Given the description of an element on the screen output the (x, y) to click on. 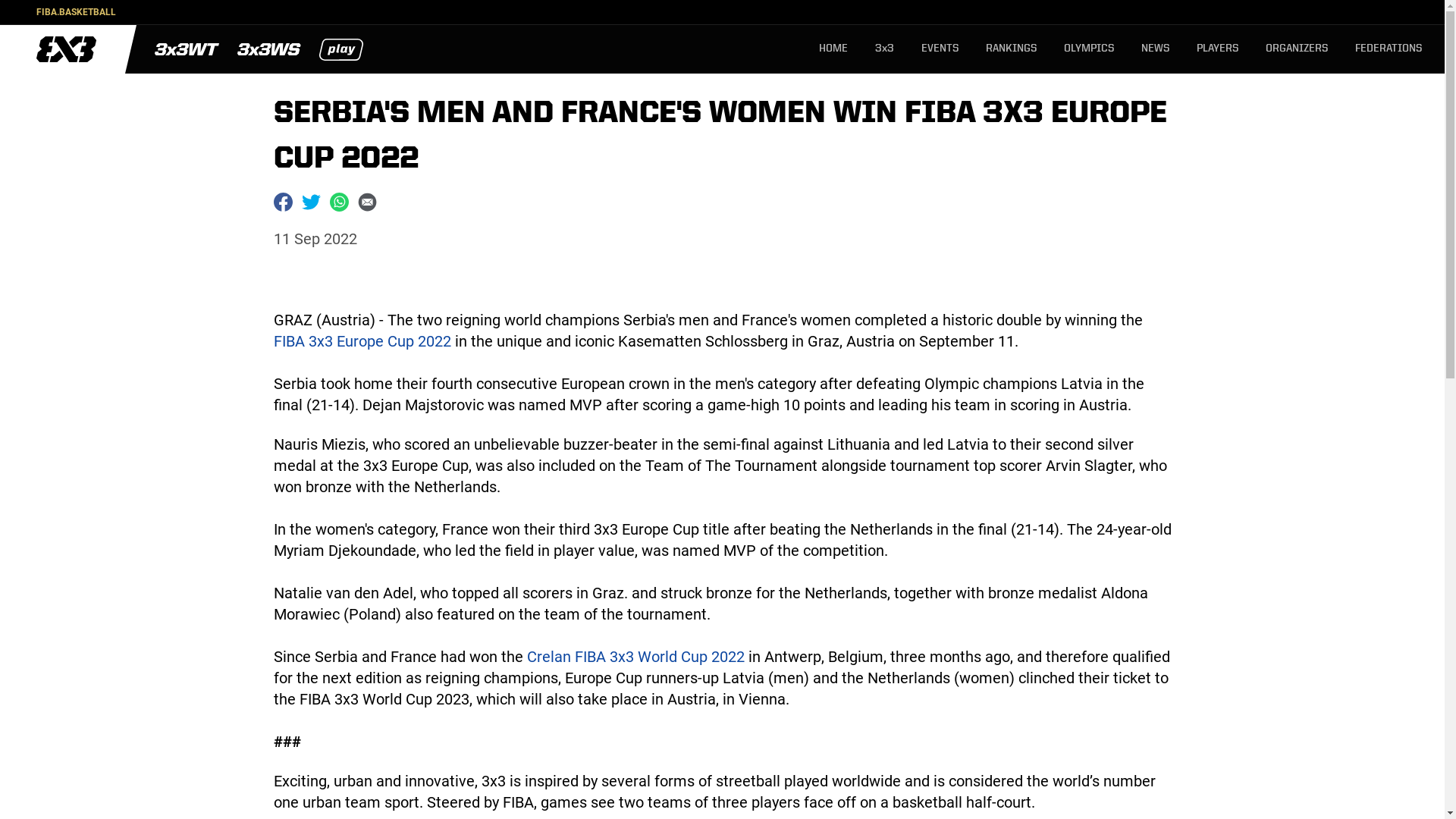
3x3 Element type: text (884, 48)
FEDERATIONS Element type: text (1388, 48)
OLYMPICS Element type: text (1088, 48)
HOME Element type: text (833, 48)
Crelan FIBA 3x3 World Cup 2022 Element type: text (634, 656)
FIBA.BASKETBALL Element type: text (76, 12)
NEWS Element type: text (1155, 48)
FIBA 3x3 Europe Cup 2022 Element type: text (361, 341)
ORGANIZERS Element type: text (1296, 48)
PLAYERS Element type: text (1217, 48)
RANKINGS Element type: text (1011, 48)
EVENTS Element type: text (939, 48)
